Given the description of an element on the screen output the (x, y) to click on. 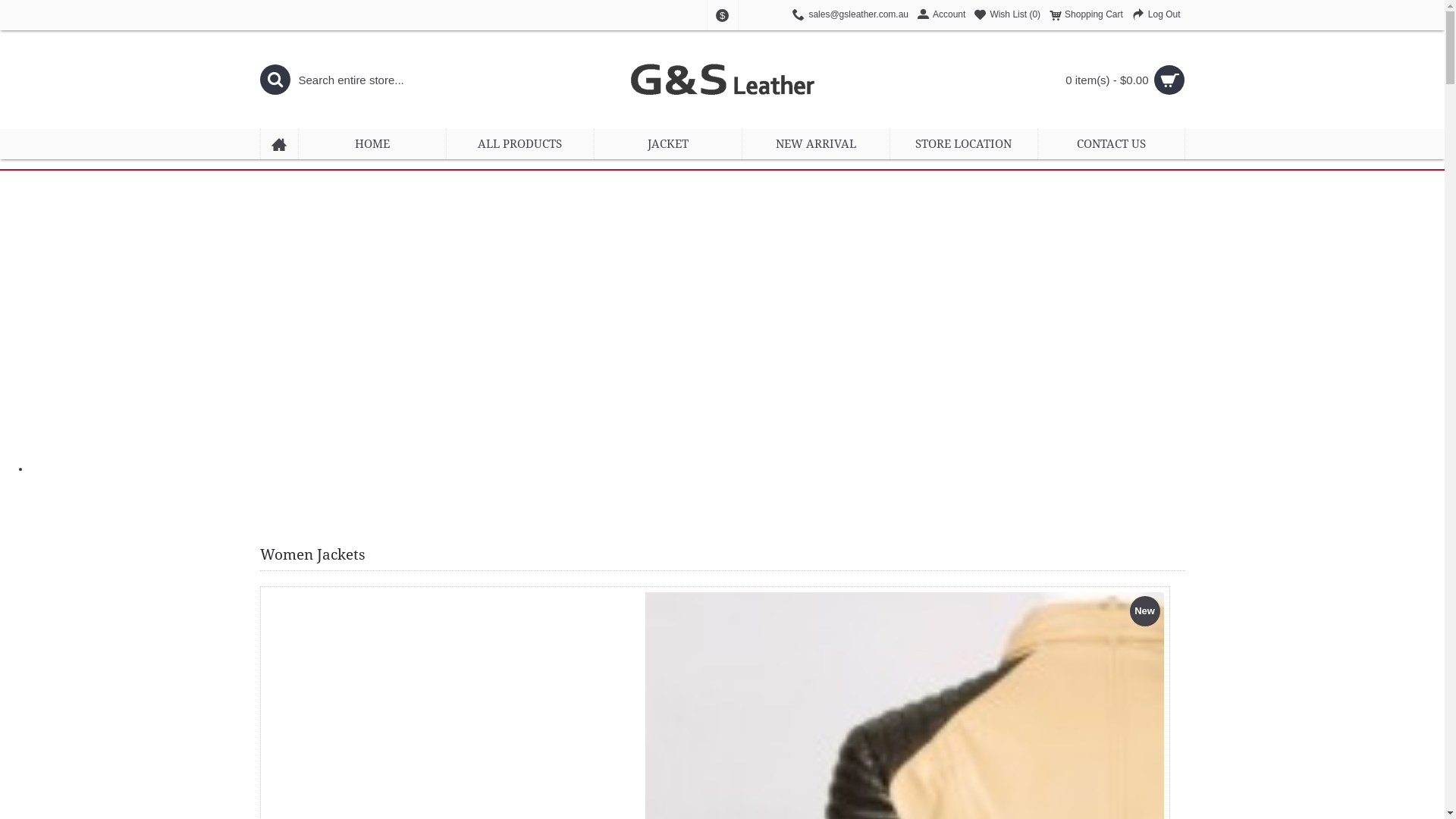
$ Element type: text (721, 15)
sales@gsleather.com.au Element type: text (850, 15)
NEW ARRIVAL Element type: text (814, 143)
JACKET Element type: text (667, 143)
ALL PRODUCTS Element type: text (519, 143)
Log Out Element type: text (1156, 15)
Wish List (0) Element type: text (1006, 15)
CONTACT US Element type: text (1110, 143)
0 item(s) - $0.00 Element type: text (1068, 79)
HOME Element type: text (371, 143)
Women Jackets Element type: text (311, 555)
Shopping Cart Element type: text (1085, 15)
G&S Leather Element type: hover (721, 79)
Account Element type: text (941, 15)
STORE LOCATION Element type: text (963, 143)
